Given the description of an element on the screen output the (x, y) to click on. 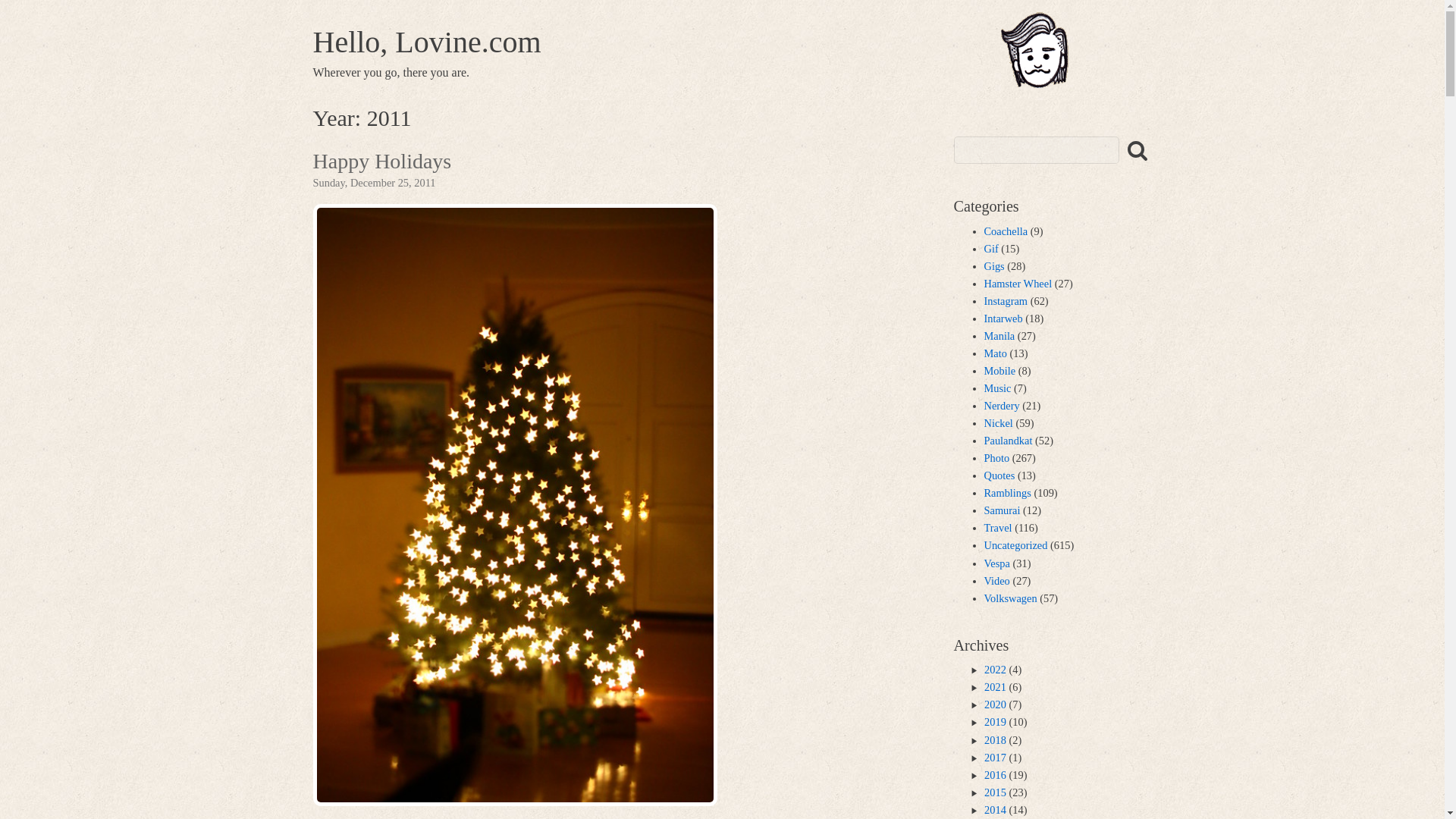
Christmas Bokeh by lovine, on Flickr (514, 801)
Hello, Lovine.com (426, 42)
Happy Holidays (382, 162)
